Given the description of an element on the screen output the (x, y) to click on. 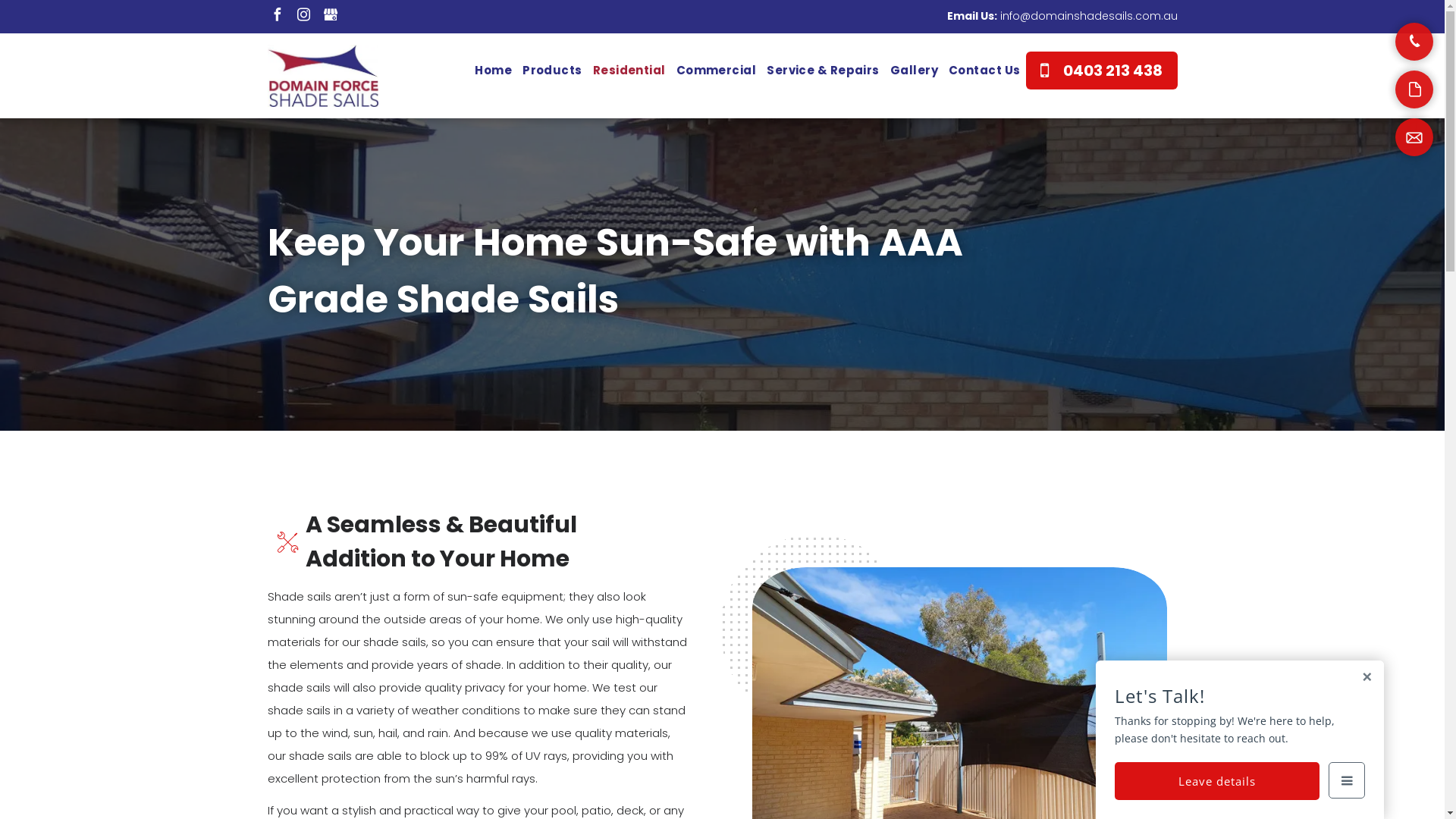
Home Element type: text (493, 70)
Gallery Element type: text (913, 70)
Commercial Element type: text (716, 70)
Products Element type: text (552, 70)
Leave details Element type: text (1216, 781)
Service & Repairs Element type: text (822, 70)
0403 213 438 Element type: text (1100, 70)
Contact Us Element type: text (984, 70)
Domain Force Shade Sails Element type: hover (322, 75)
Residential Element type: text (629, 70)
info@domainshadesails.com.au Element type: text (1087, 15)
